Given the description of an element on the screen output the (x, y) to click on. 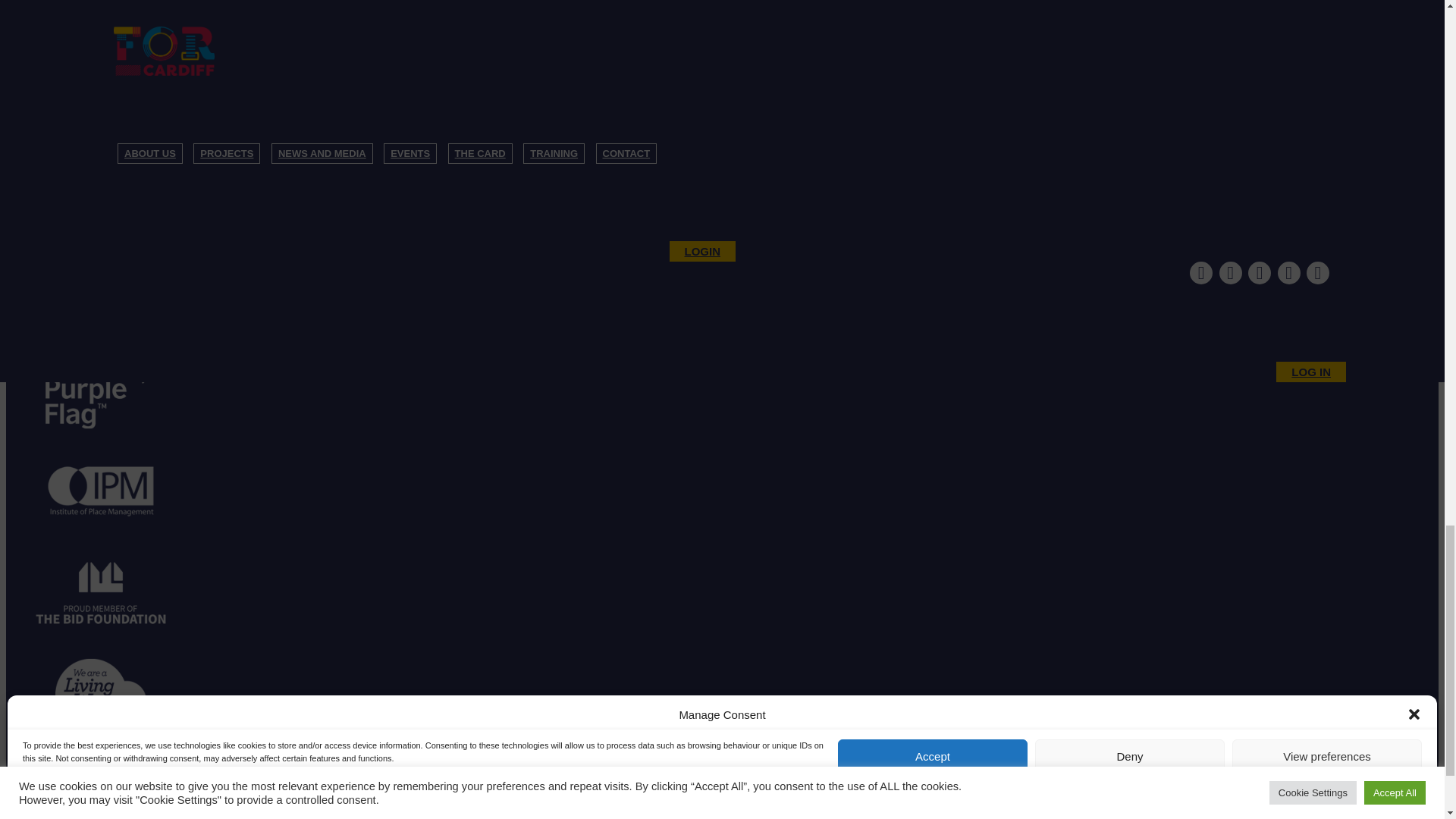
Submit (40, 198)
